Given the description of an element on the screen output the (x, y) to click on. 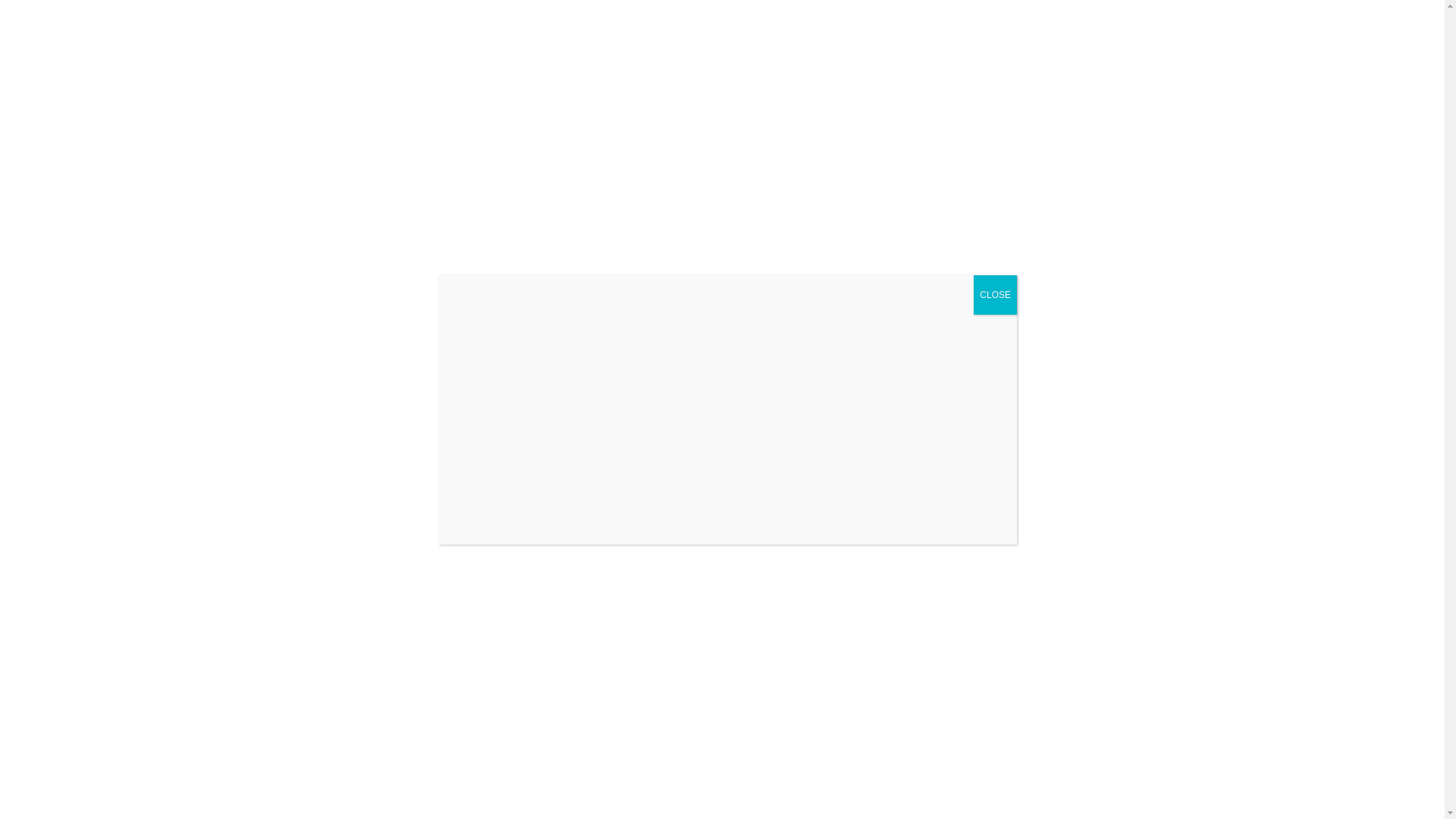
Home (790, 33)
CLOSE (995, 293)
YouTube video player (664, 407)
Gallery (1313, 33)
Online Class Meeting Link (1108, 33)
About Us (856, 33)
Daily Free Spins Deposit Czech Republic (207, 788)
Free Blackjack Cz (144, 378)
Testimonials (1236, 33)
Contact Us (1387, 33)
Our Departments (959, 33)
